Given the description of an element on the screen output the (x, y) to click on. 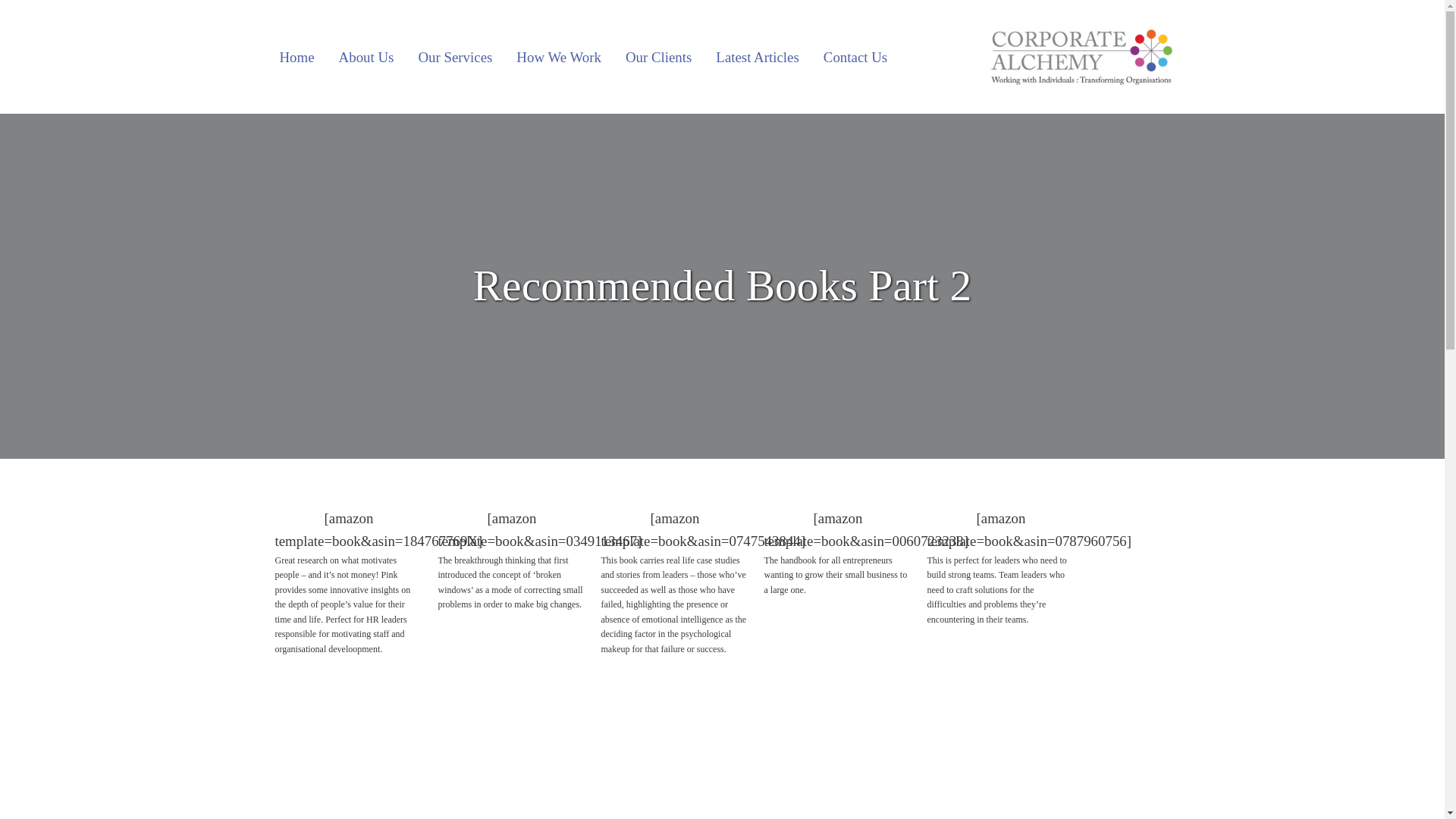
Latest Articles (756, 56)
About Us (366, 56)
Contact Us (854, 56)
Our Services (454, 56)
Our Clients (657, 56)
Home (296, 56)
How We Work (557, 56)
